Given the description of an element on the screen output the (x, y) to click on. 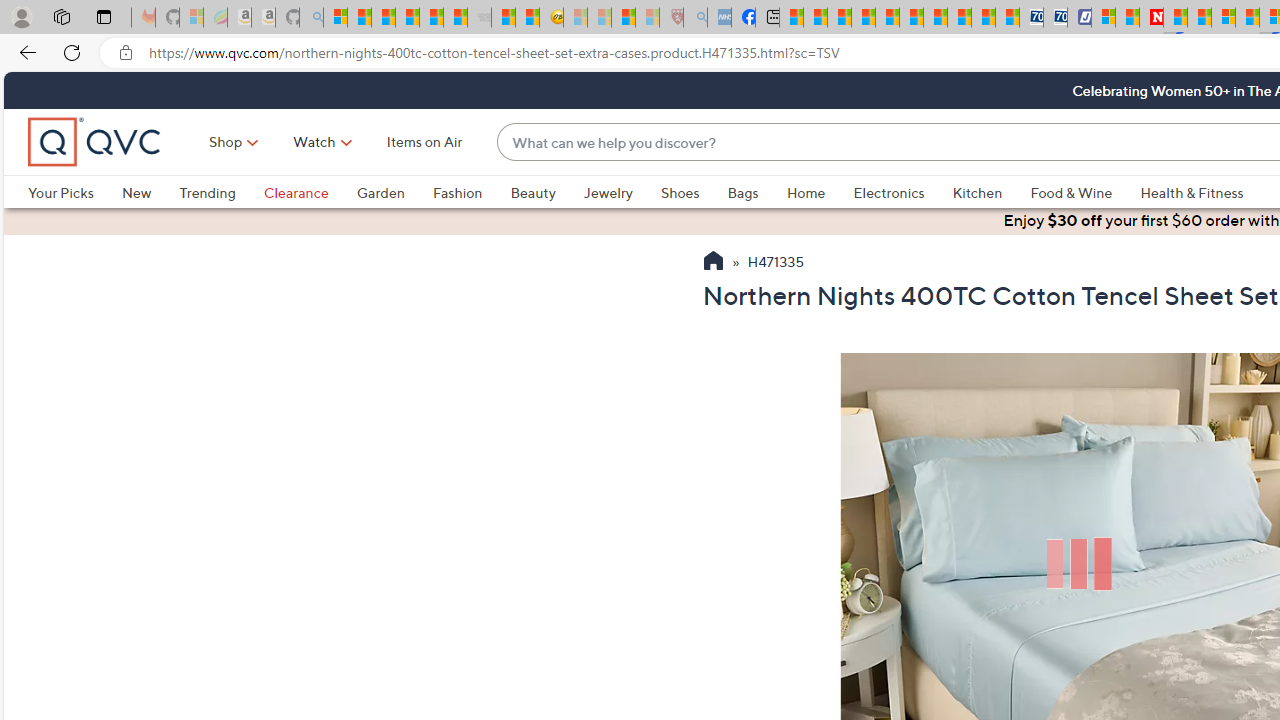
World - MSN (839, 17)
New (136, 192)
QVC home (95, 141)
Electronics (888, 192)
Kitchen (991, 192)
Food & Wine (1085, 192)
Cheap Hotels - Save70.com (1055, 17)
